Given the description of an element on the screen output the (x, y) to click on. 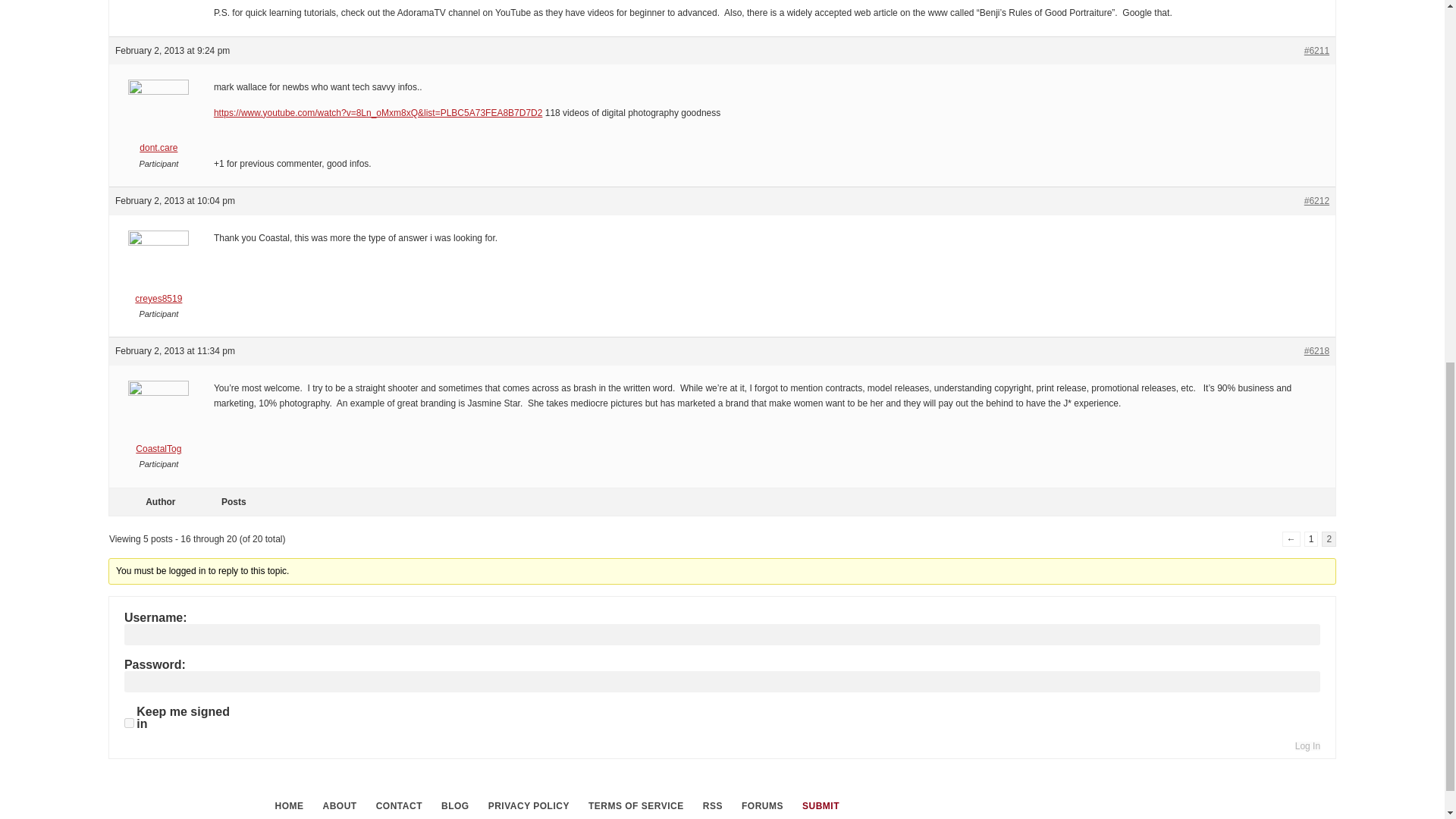
dont.care (158, 120)
creyes8519 (158, 271)
View creyes8519's profile (158, 271)
forever (128, 723)
View CoastalTog's profile (158, 421)
CoastalTog (158, 421)
1 (1311, 539)
Log In (1307, 746)
View dont.care's profile (158, 120)
